Given the description of an element on the screen output the (x, y) to click on. 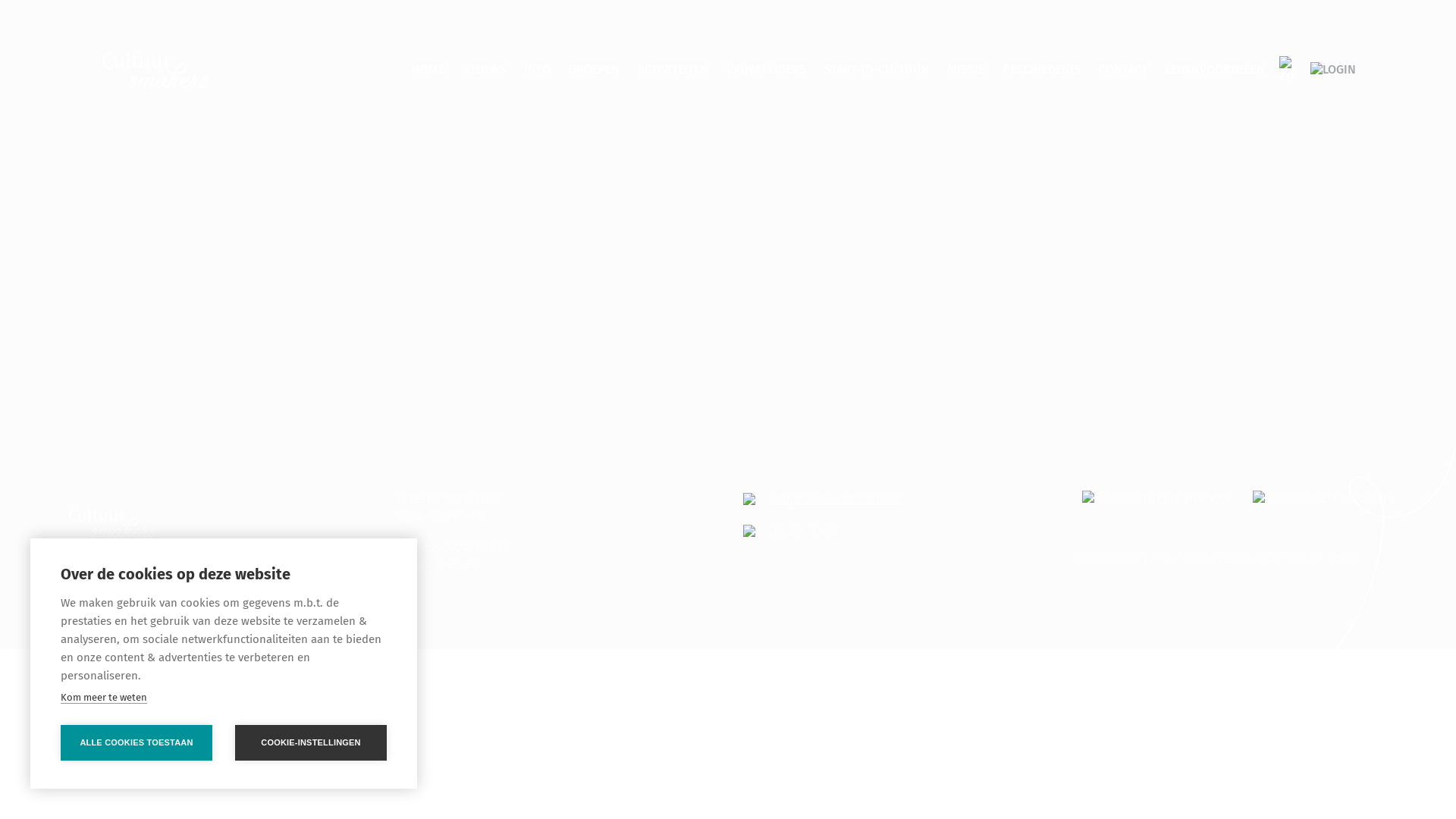
COOKIE-INSTELLINGEN Element type: text (310, 742)
ACTIVITEITEN Element type: text (672, 69)
START-TO-CULTUUR Element type: text (876, 69)
login Element type: hover (1332, 68)
CONTACT Element type: text (1123, 69)
INFO Element type: text (537, 69)
home Element type: hover (218, 69)
NIEUWS Element type: text (483, 69)
Cultuursmakers facebook Element type: hover (1158, 497)
MISSIE Element type: text (965, 69)
GROEPEN Element type: text (593, 69)
ALLE COOKIES TOESTAAN Element type: text (136, 742)
Privacyverklaring Element type: text (1229, 557)
info@cultuursmakers.be Element type: text (835, 498)
LEDENVOORDELEN Element type: text (1214, 69)
HOME Element type: text (427, 69)
Cookie Policy Element type: text (1322, 557)
Kom meer te weten Element type: text (103, 697)
Zoek Element type: text (1330, 68)
VRIJWILLIGERS Element type: text (765, 69)
GESCHIEDENIS Element type: text (1041, 69)
Cultuursmakers youtube Element type: hover (1324, 497)
